Given the description of an element on the screen output the (x, y) to click on. 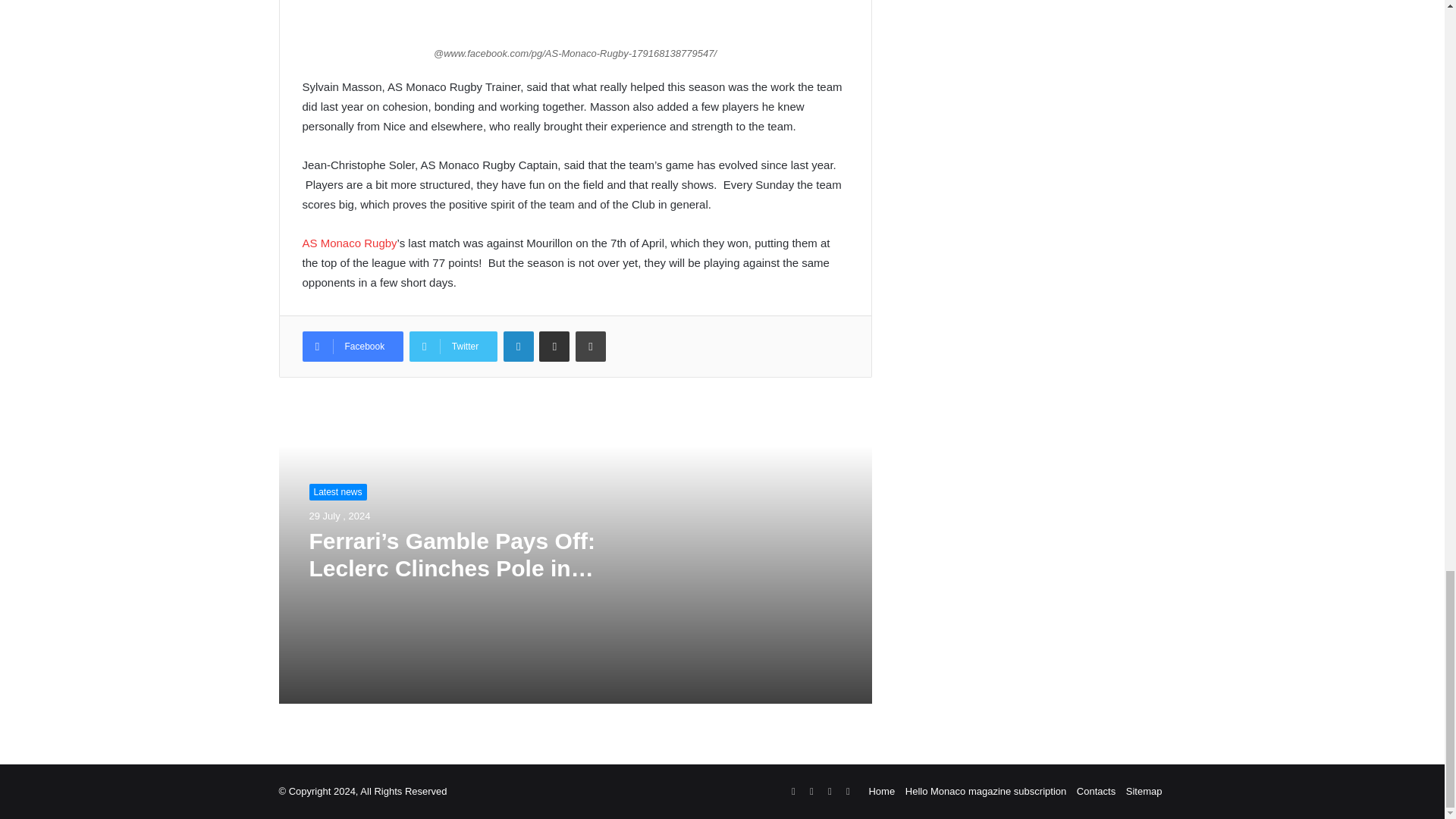
Print (590, 346)
Facebook (352, 346)
Share via Email (553, 346)
LinkedIn (518, 346)
Twitter (453, 346)
